Given the description of an element on the screen output the (x, y) to click on. 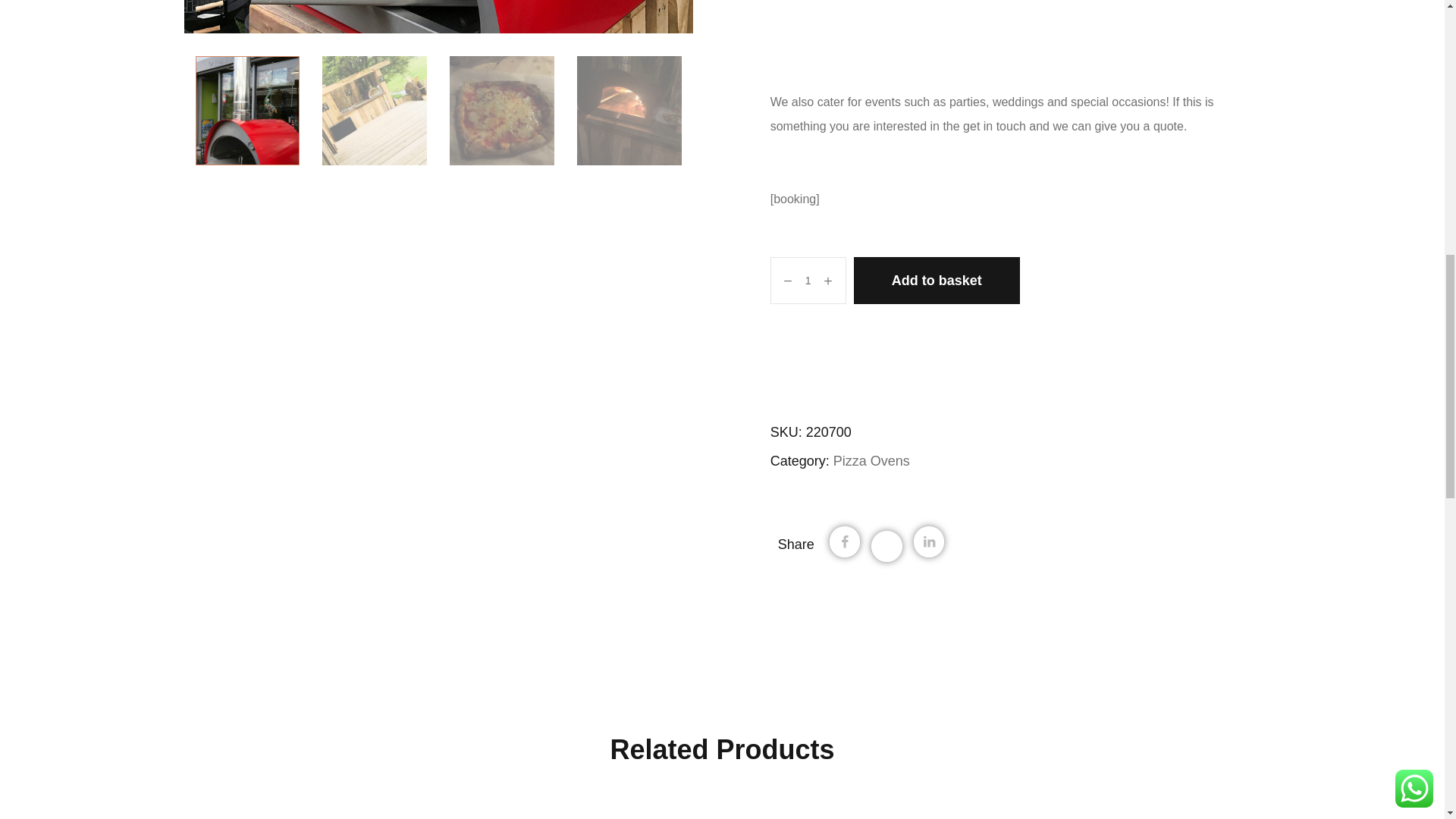
5-1.jpg (438, 16)
PayPal (1016, 338)
